Given the description of an element on the screen output the (x, y) to click on. 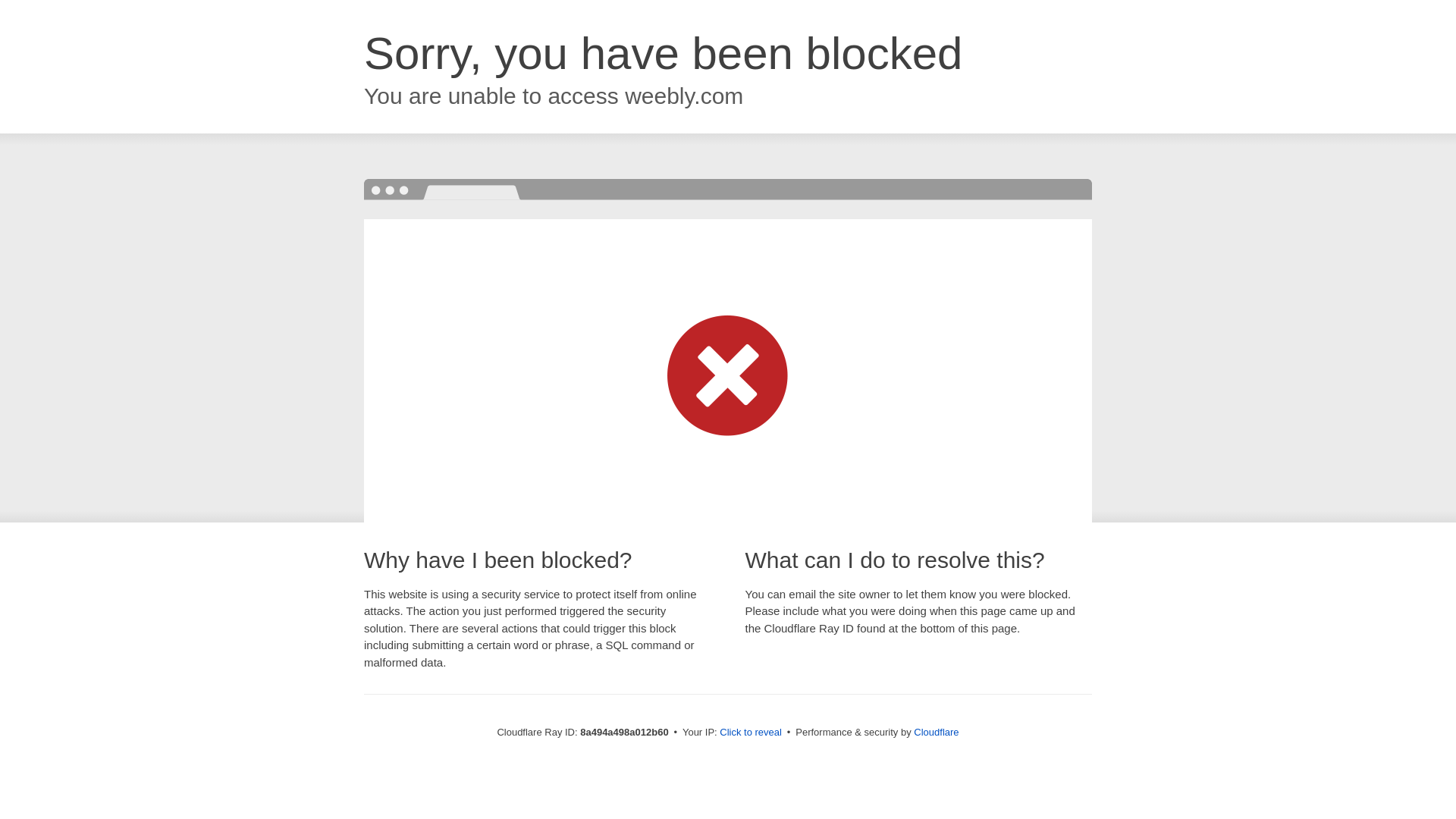
Cloudflare (936, 731)
Click to reveal (750, 732)
